Given the description of an element on the screen output the (x, y) to click on. 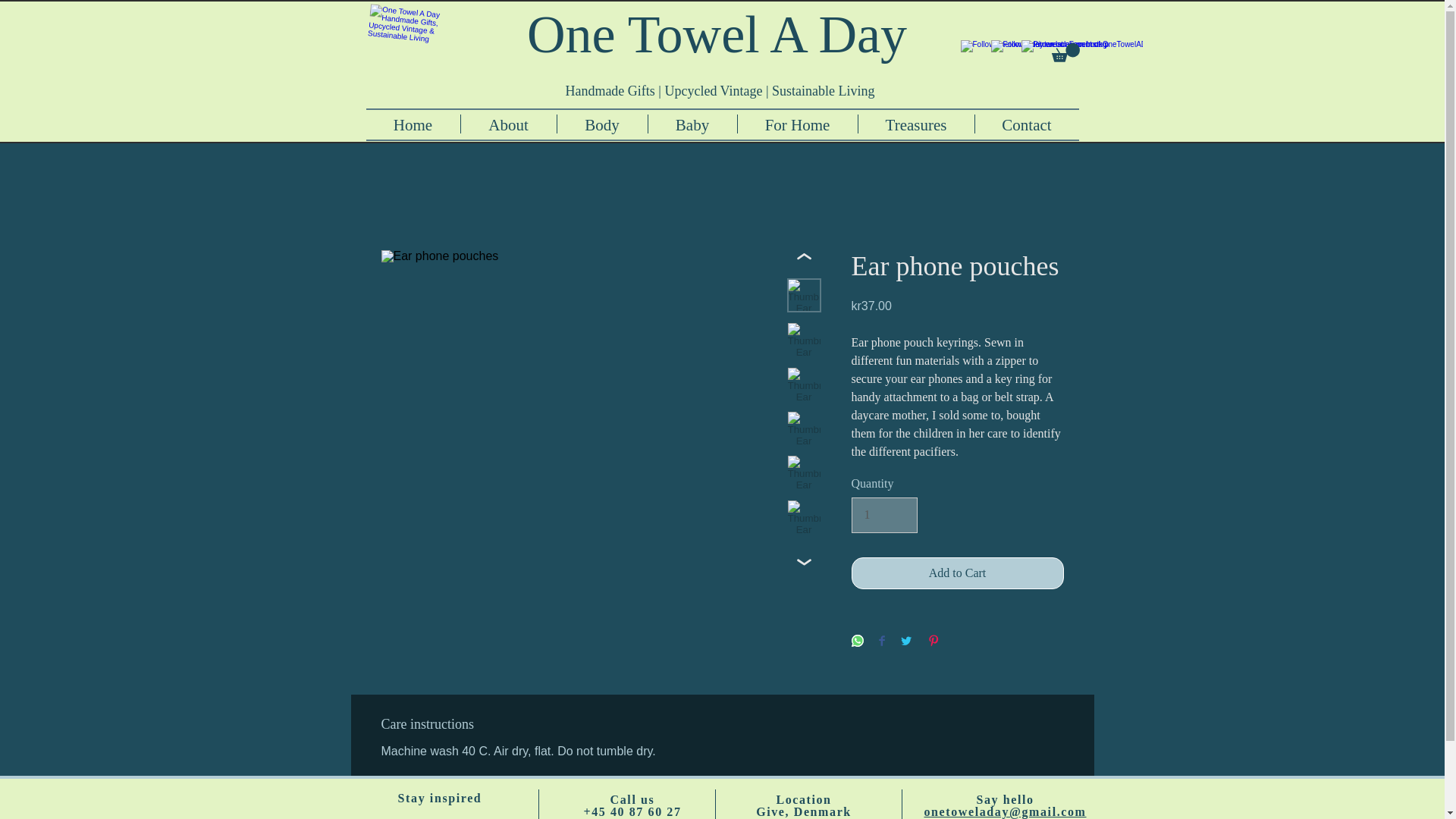
Add to Cart (956, 572)
1 (883, 514)
Home (412, 123)
Go to One Towel a Day home page (406, 47)
Treasures (916, 123)
Give, Denmark (803, 811)
Contact (1026, 123)
For Home (796, 123)
Baby (691, 123)
Body (601, 123)
